Given the description of an element on the screen output the (x, y) to click on. 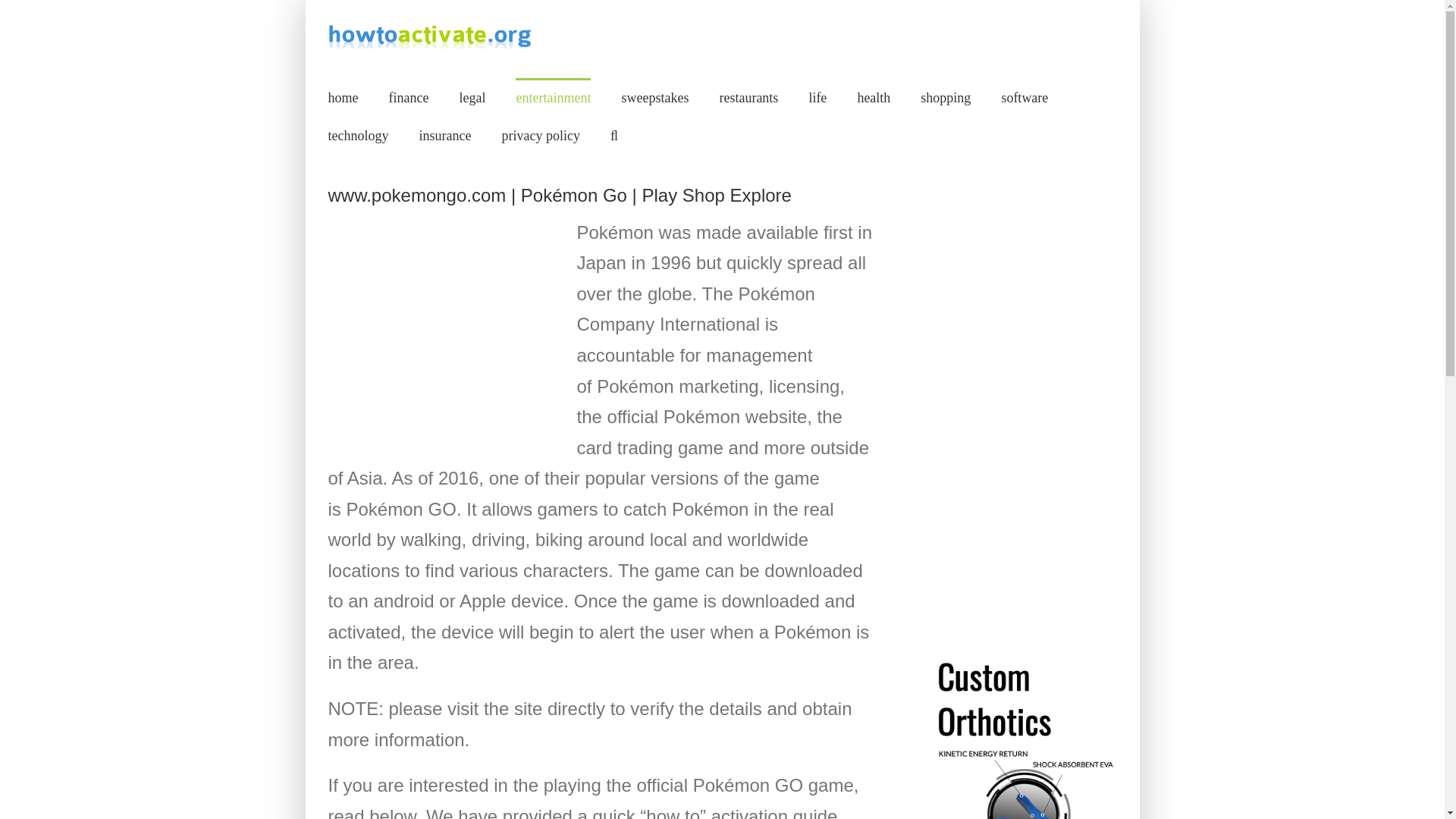
shopping (945, 96)
entertainment (553, 96)
software (1024, 96)
sweepstakes (654, 96)
insurance (444, 134)
privacy policy (539, 134)
technology (357, 134)
Advertisement (440, 333)
restaurants (748, 96)
finance (408, 96)
